Given the description of an element on the screen output the (x, y) to click on. 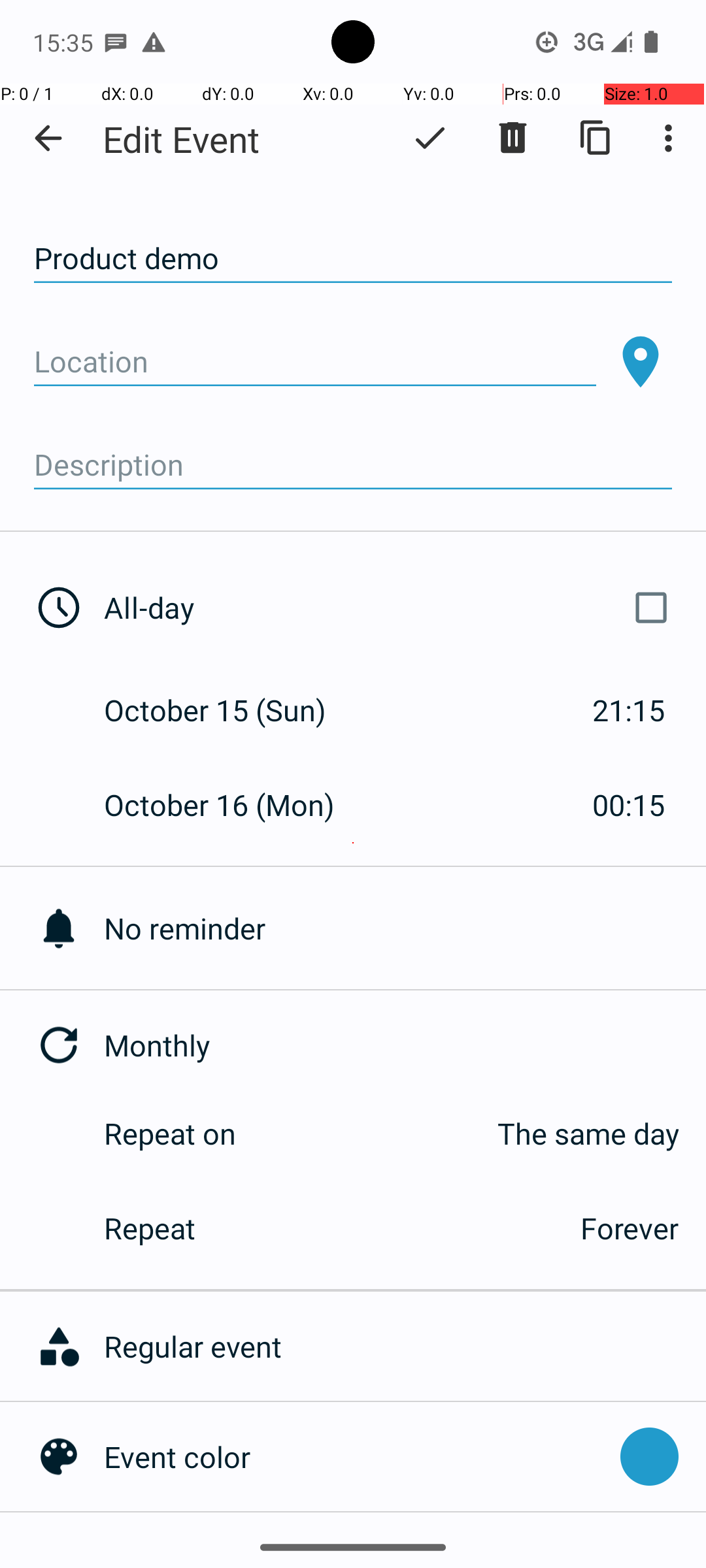
Product demo Element type: android.widget.EditText (352, 258)
21:15 Element type: android.widget.TextView (628, 709)
October 16 (Mon) Element type: android.widget.TextView (232, 804)
00:15 Element type: android.widget.TextView (628, 804)
Monthly Element type: android.widget.TextView (404, 1044)
Repeat on Element type: android.widget.TextView (169, 1132)
The same day Element type: android.widget.TextView (470, 1132)
Repeat Element type: android.widget.TextView (328, 1227)
Forever Element type: android.widget.TextView (629, 1227)
